Given the description of an element on the screen output the (x, y) to click on. 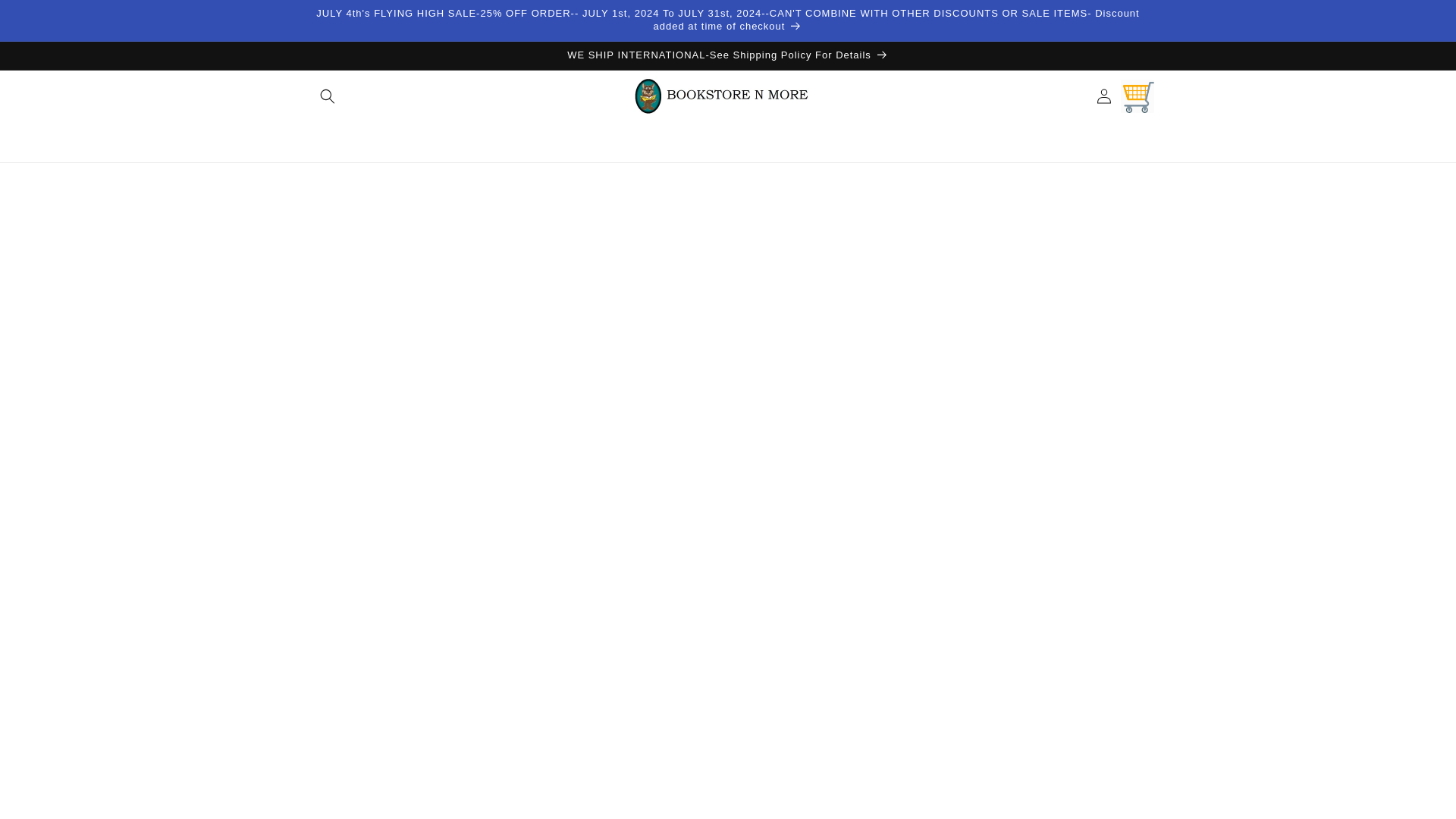
Skip to content (45, 17)
